Given the description of an element on the screen output the (x, y) to click on. 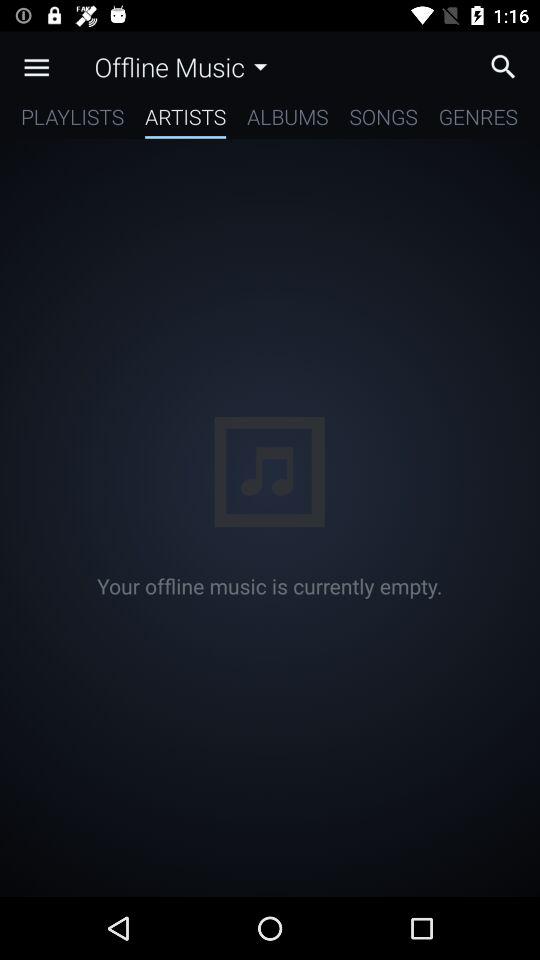
press the app above playlists (36, 67)
